Given the description of an element on the screen output the (x, y) to click on. 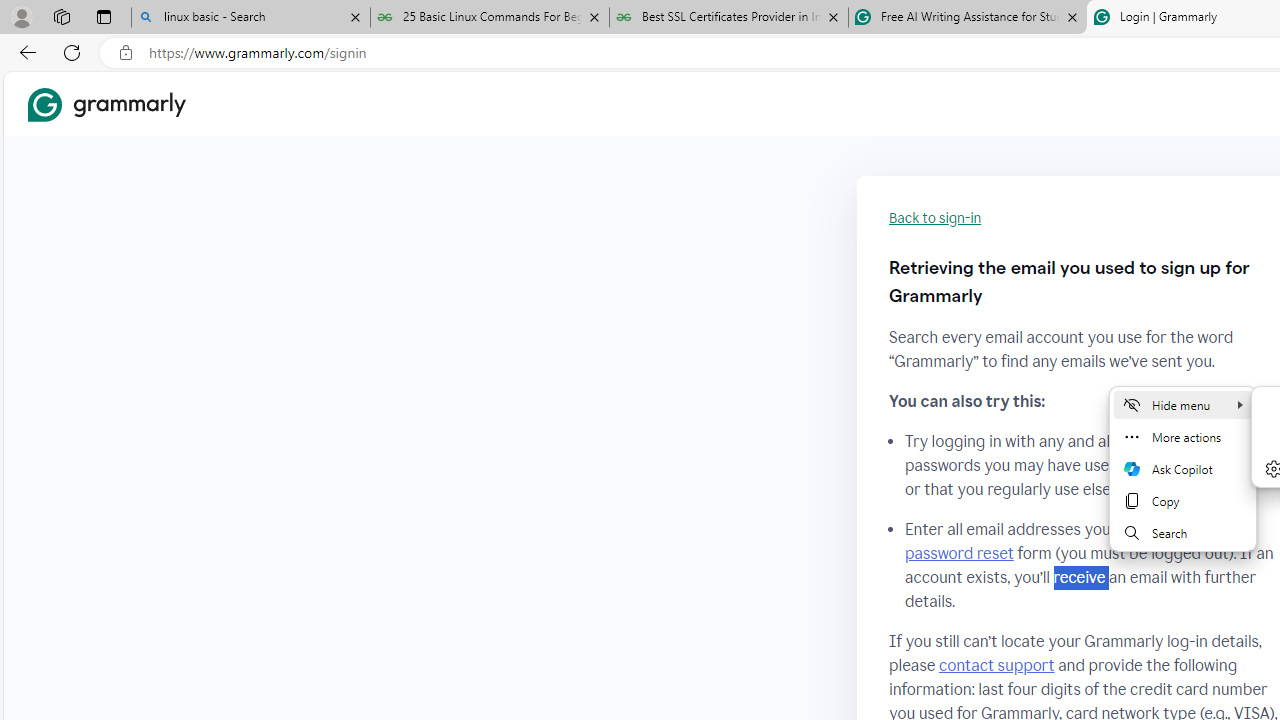
linux basic - Search (250, 17)
Free AI Writing Assistance for Students | Grammarly (967, 17)
More actions (1182, 436)
Back to sign-in (935, 218)
25 Basic Linux Commands For Beginners - GeeksforGeeks (490, 17)
